Given the description of an element on the screen output the (x, y) to click on. 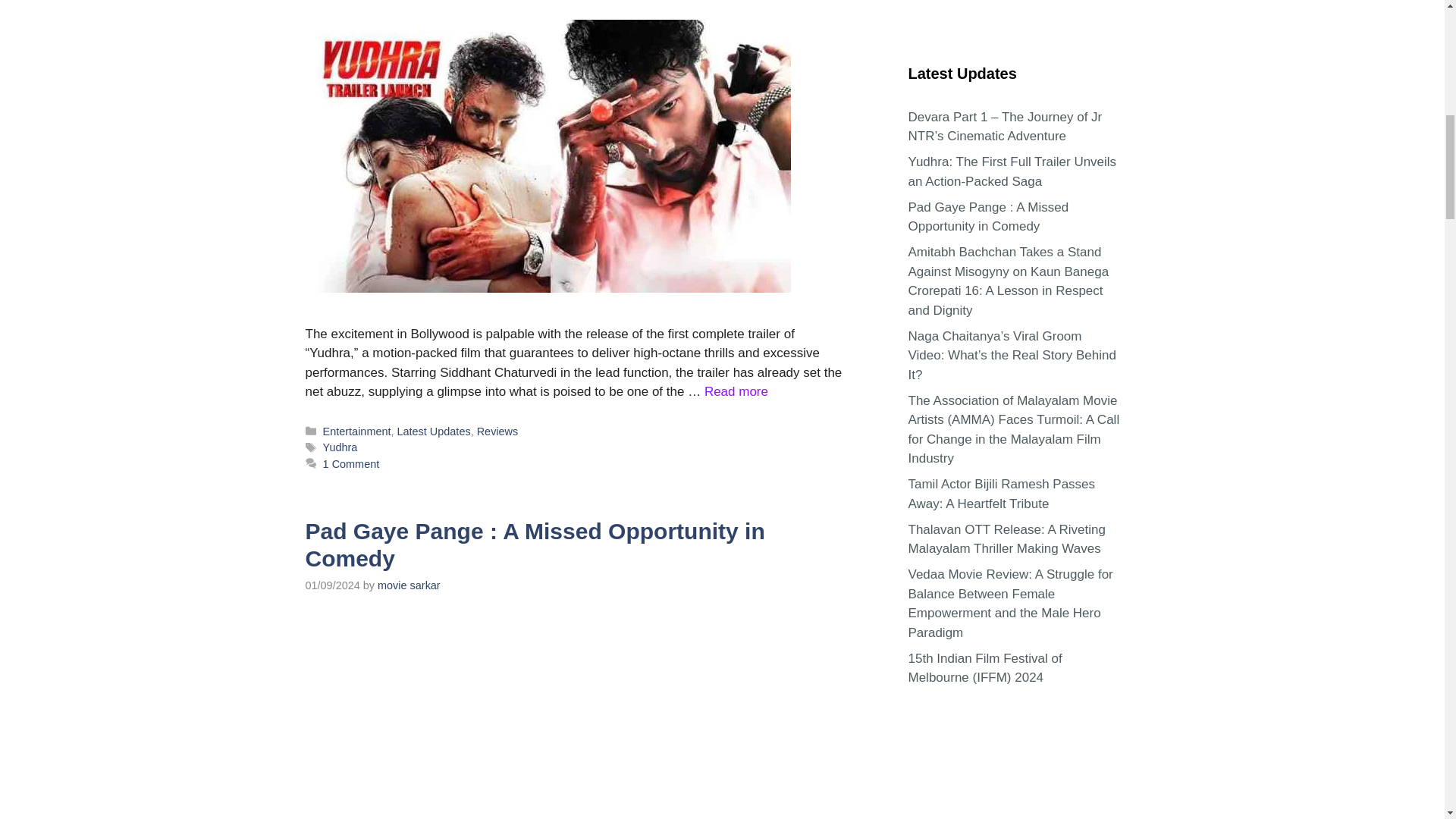
Yudhra: The First Full Trailer Unveils an Action-Packed Saga (736, 391)
movie sarkar (409, 585)
Read more (736, 391)
Reviews (497, 431)
Yudhra (340, 447)
Latest Updates (433, 431)
1 Comment (351, 463)
Pad Gaye Pange : A Missed Opportunity in Comedy (534, 544)
Entertainment (357, 431)
View all posts by movie sarkar (409, 585)
